Given the description of an element on the screen output the (x, y) to click on. 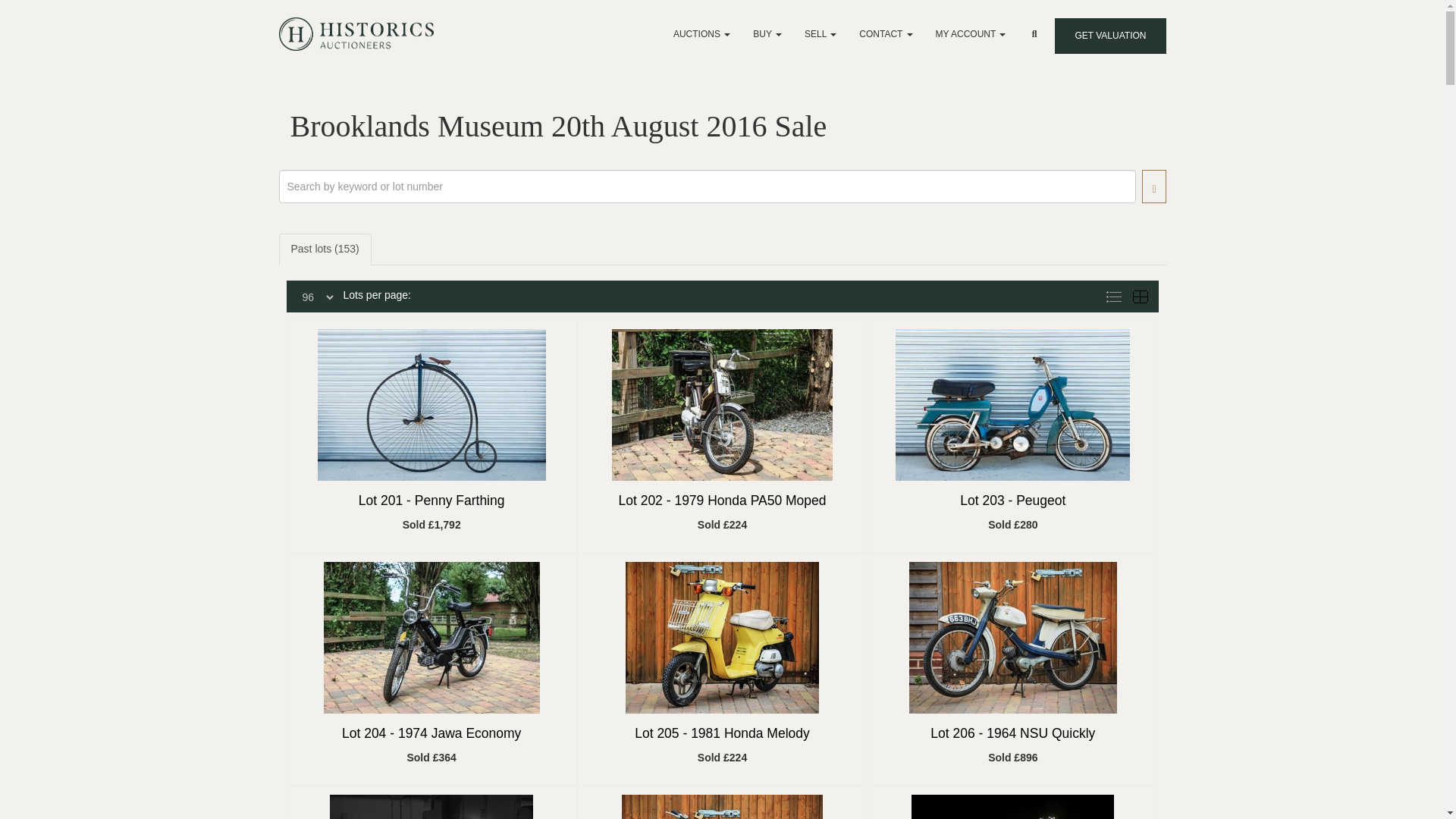
GET VALUATION (1110, 36)
Lot 202 - 1979 Honda PA50 Moped (721, 500)
Lot 201 - Penny Farthing (431, 500)
MY ACCOUNT (970, 33)
AUCTIONS (701, 33)
BUY (767, 33)
CONTACT (885, 33)
SELL (820, 33)
